Given the description of an element on the screen output the (x, y) to click on. 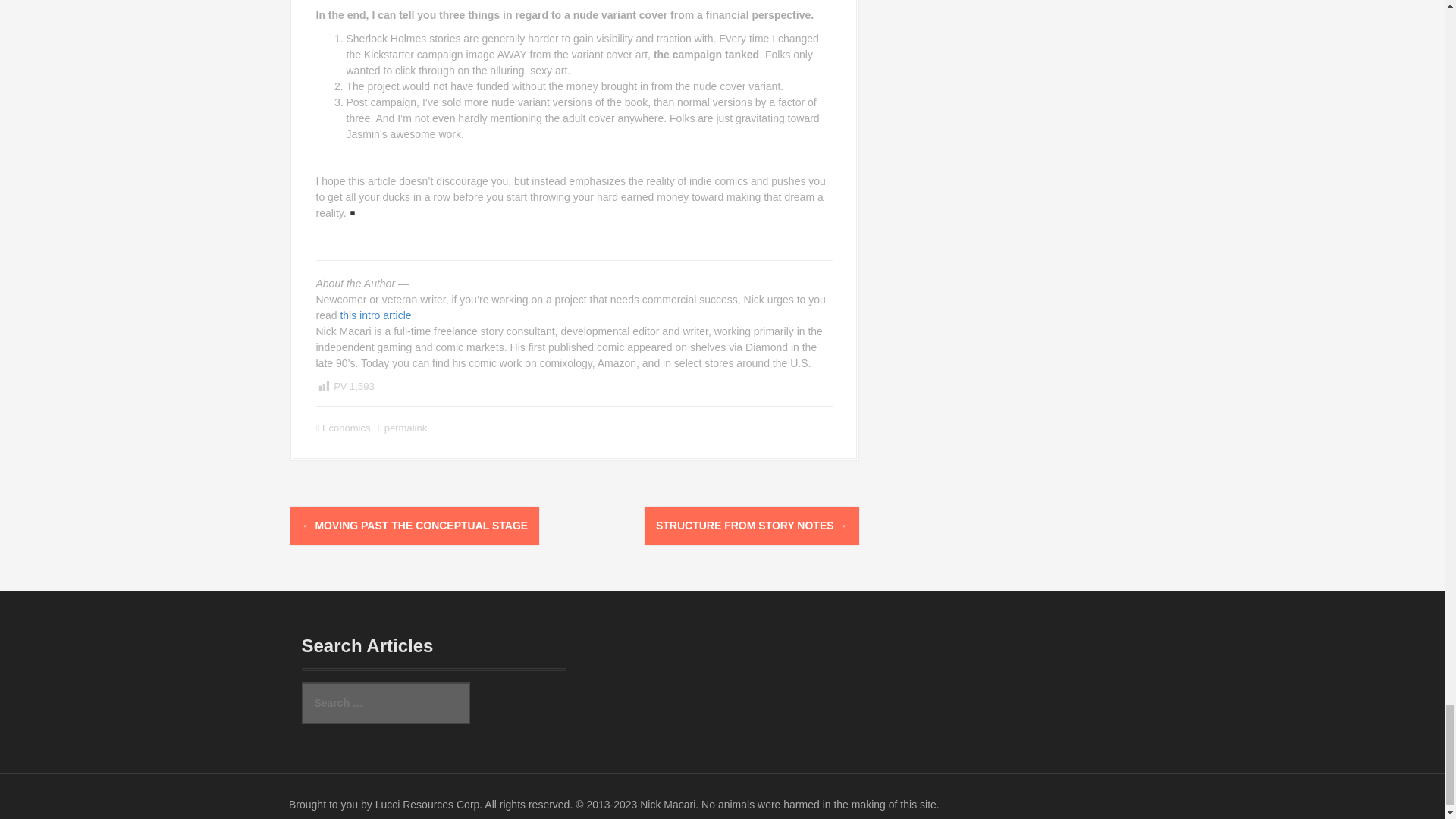
Search for: (385, 702)
permalink (403, 428)
this intro article (374, 315)
Economics (346, 428)
